Given the description of an element on the screen output the (x, y) to click on. 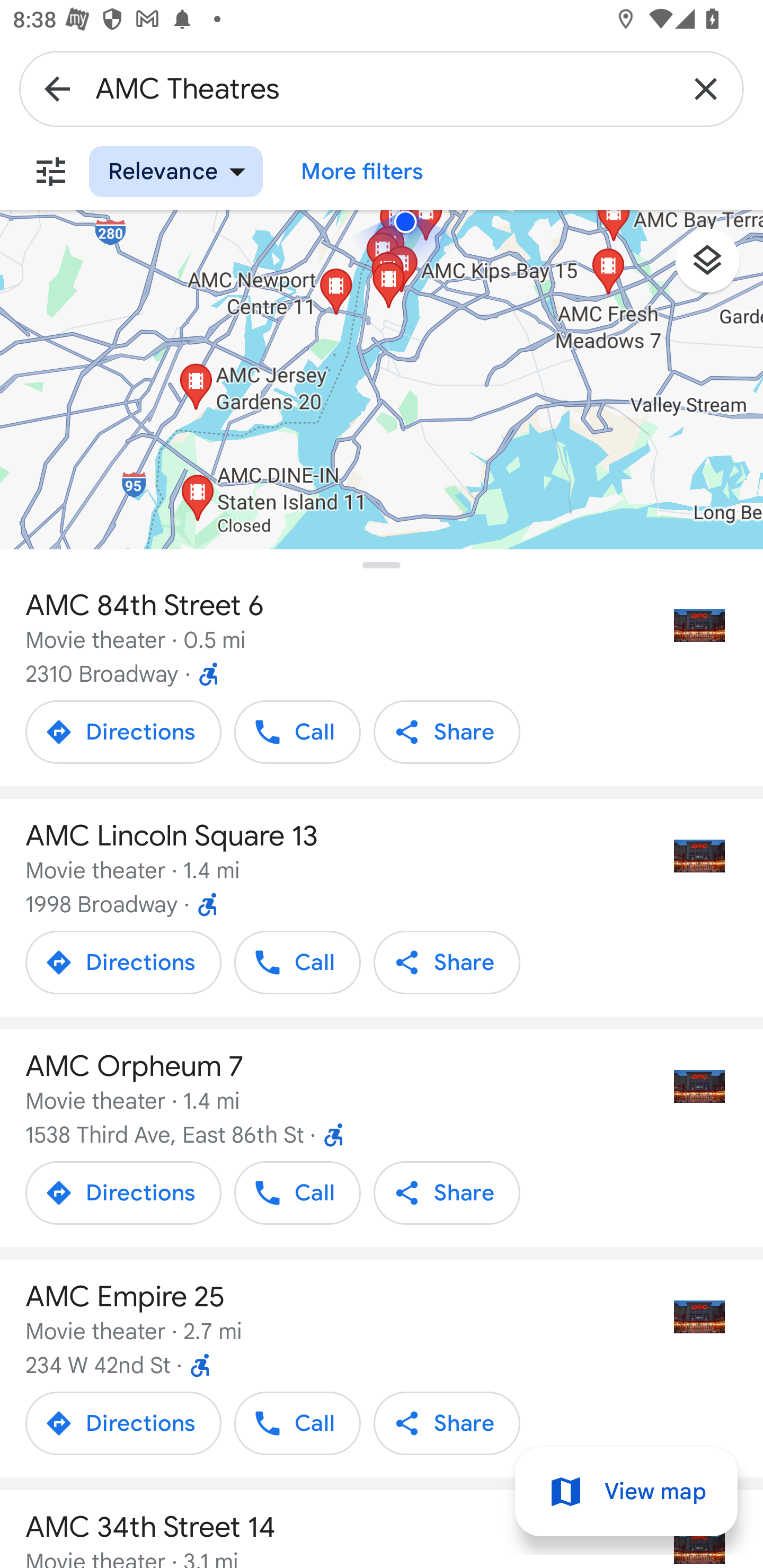
Back (57, 88)
AMC Theatres (381, 88)
Clear (705, 88)
More filters (50, 171)
Relevance Relevance Relevance (175, 171)
More filters More filters More filters (362, 171)
Layers (716, 267)
Share AMC Orpheum 7 Share Share AMC Orpheum 7 (446, 1192)
Share AMC Empire 25 Share Share AMC Empire 25 (446, 1422)
View map Map view (626, 1491)
